Given the description of an element on the screen output the (x, y) to click on. 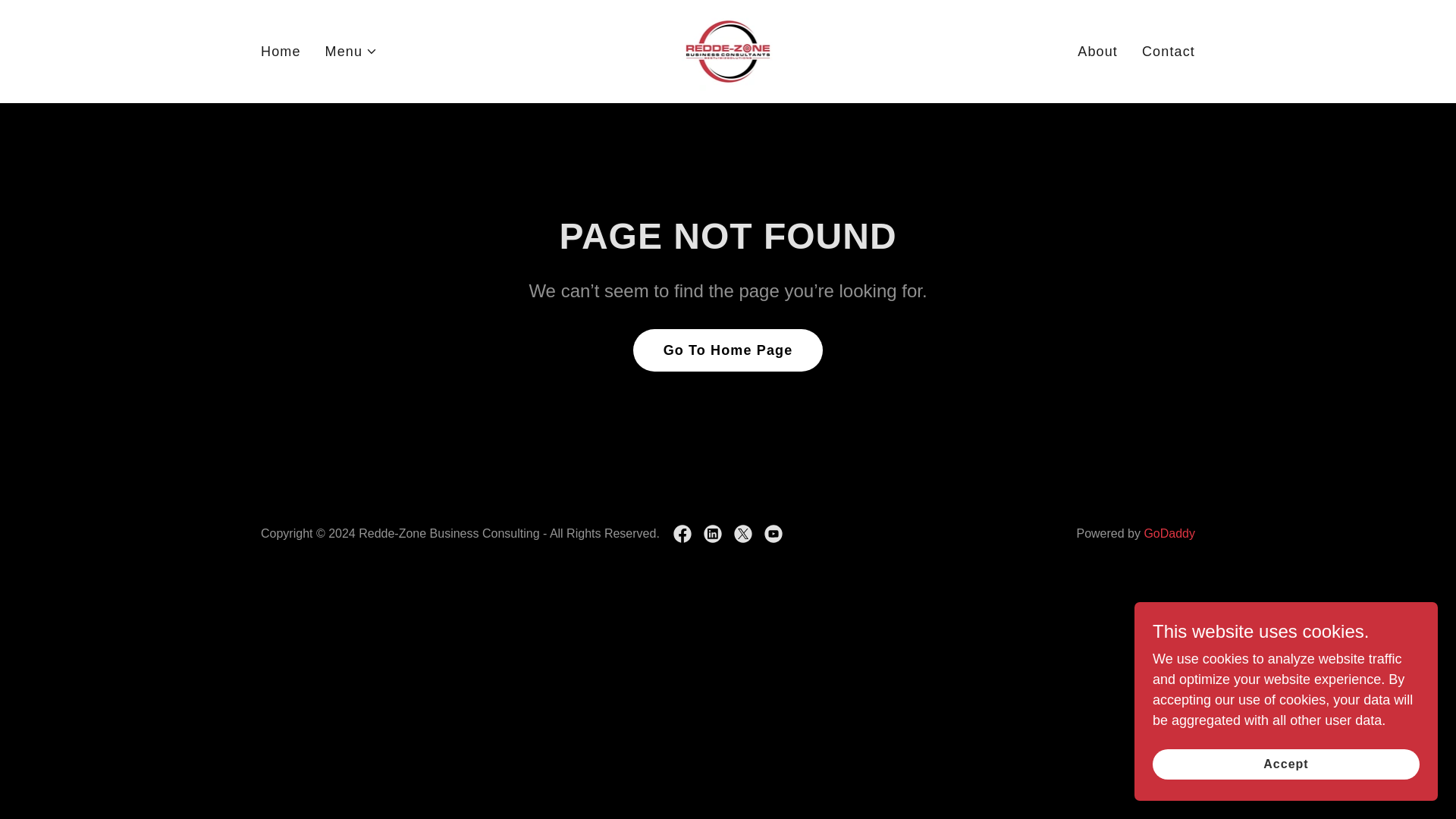
Menu (351, 50)
Contact (1168, 51)
GoDaddy (1168, 533)
Go To Home Page (728, 350)
Accept (1286, 764)
Redde-Zone Business Consulting (727, 50)
Home (280, 51)
About (1097, 51)
